Given the description of an element on the screen output the (x, y) to click on. 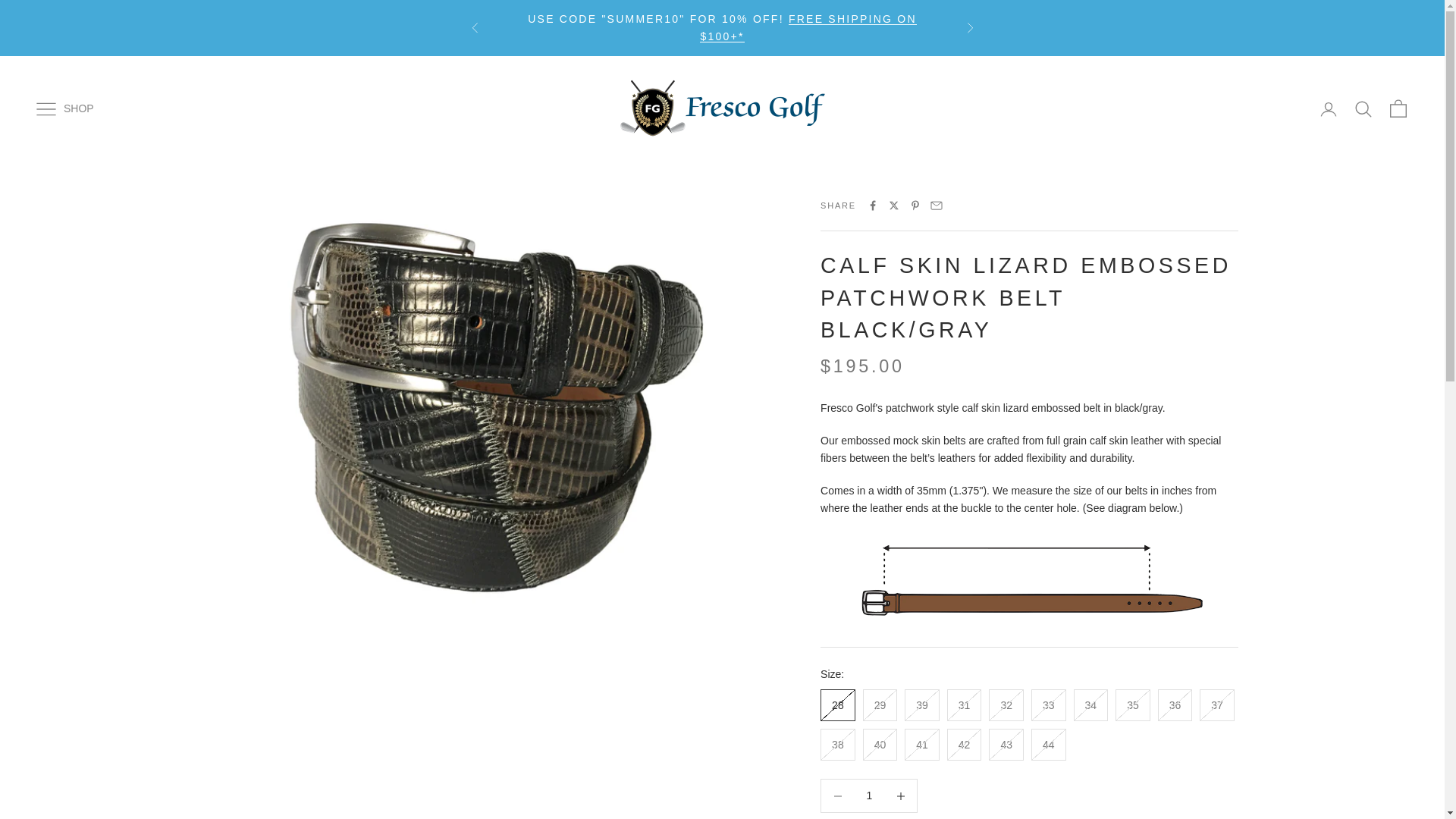
Fresco Golf (722, 108)
Open cart (1398, 108)
Decrease quantity (900, 795)
